Given the description of an element on the screen output the (x, y) to click on. 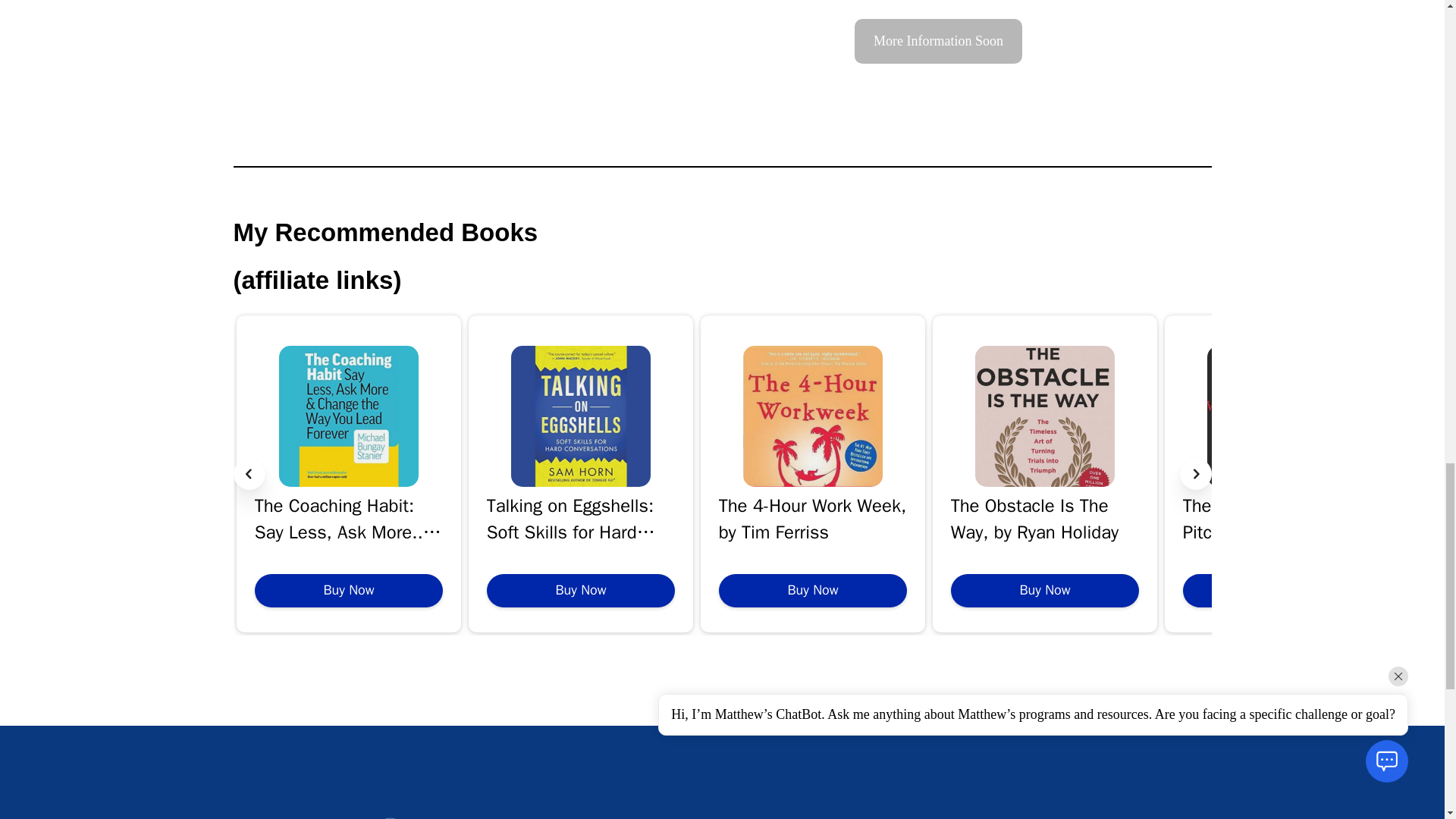
More Information Soon (938, 40)
